Given the description of an element on the screen output the (x, y) to click on. 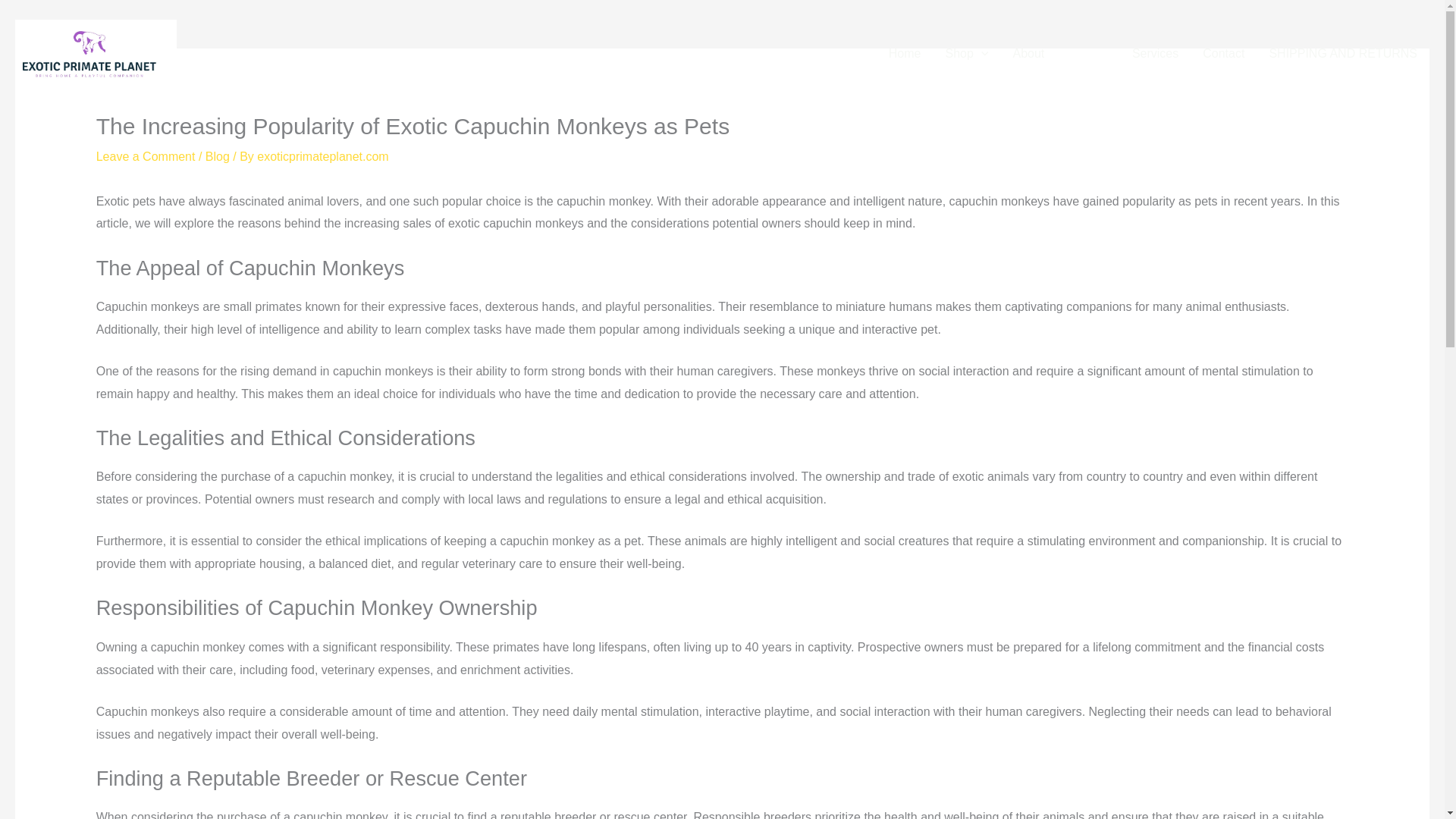
Home (904, 53)
About (1028, 53)
Shop (966, 53)
View all posts by exoticprimateplanet.com (322, 155)
Services (1155, 53)
Blog (1088, 53)
SHIPPING AND RETURNS (1342, 53)
Contact (1223, 53)
